Given the description of an element on the screen output the (x, y) to click on. 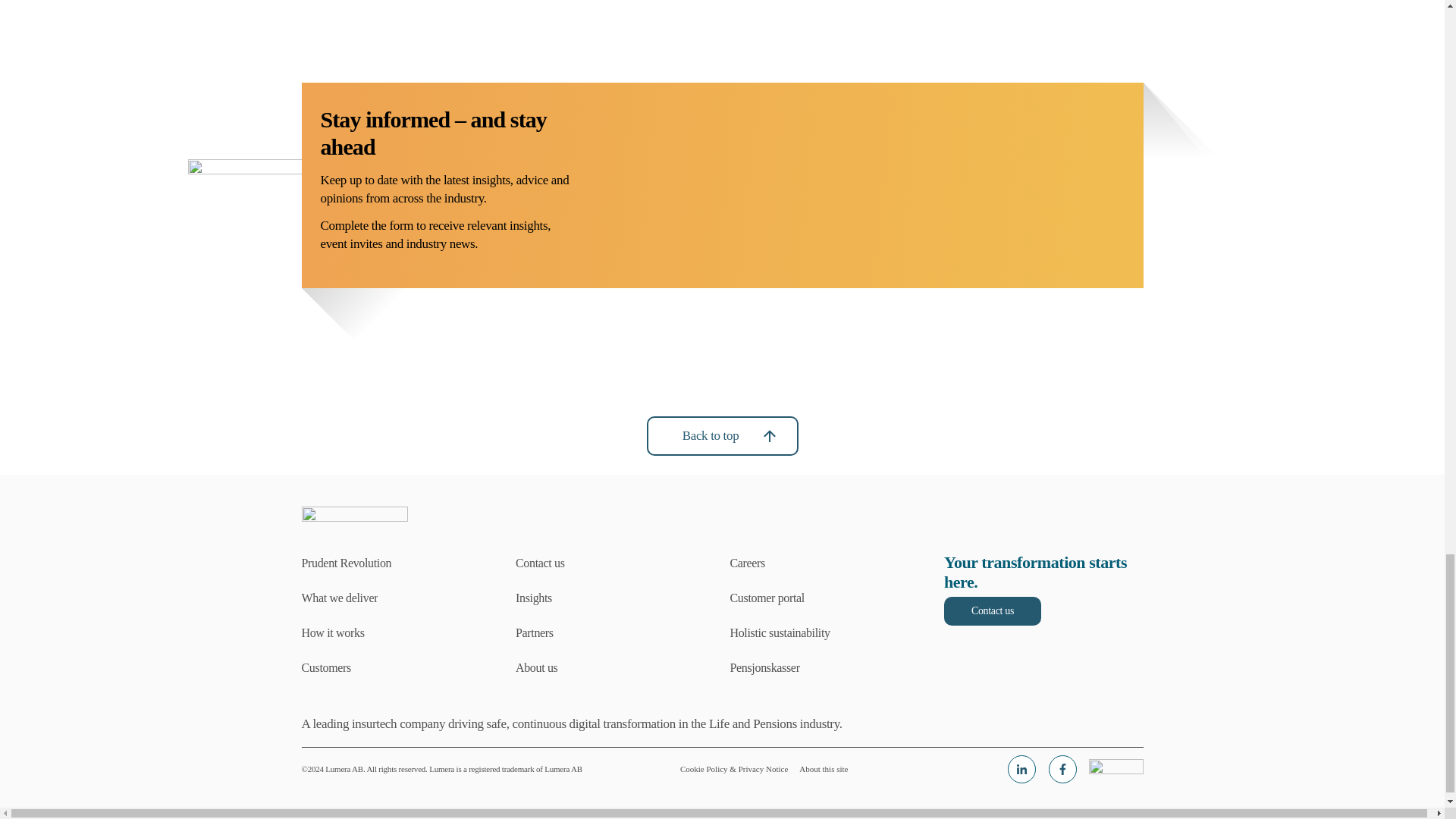
square-blue (293, 264)
Back to top (721, 435)
circle-noshadow-yellow (1170, 67)
